Given the description of an element on the screen output the (x, y) to click on. 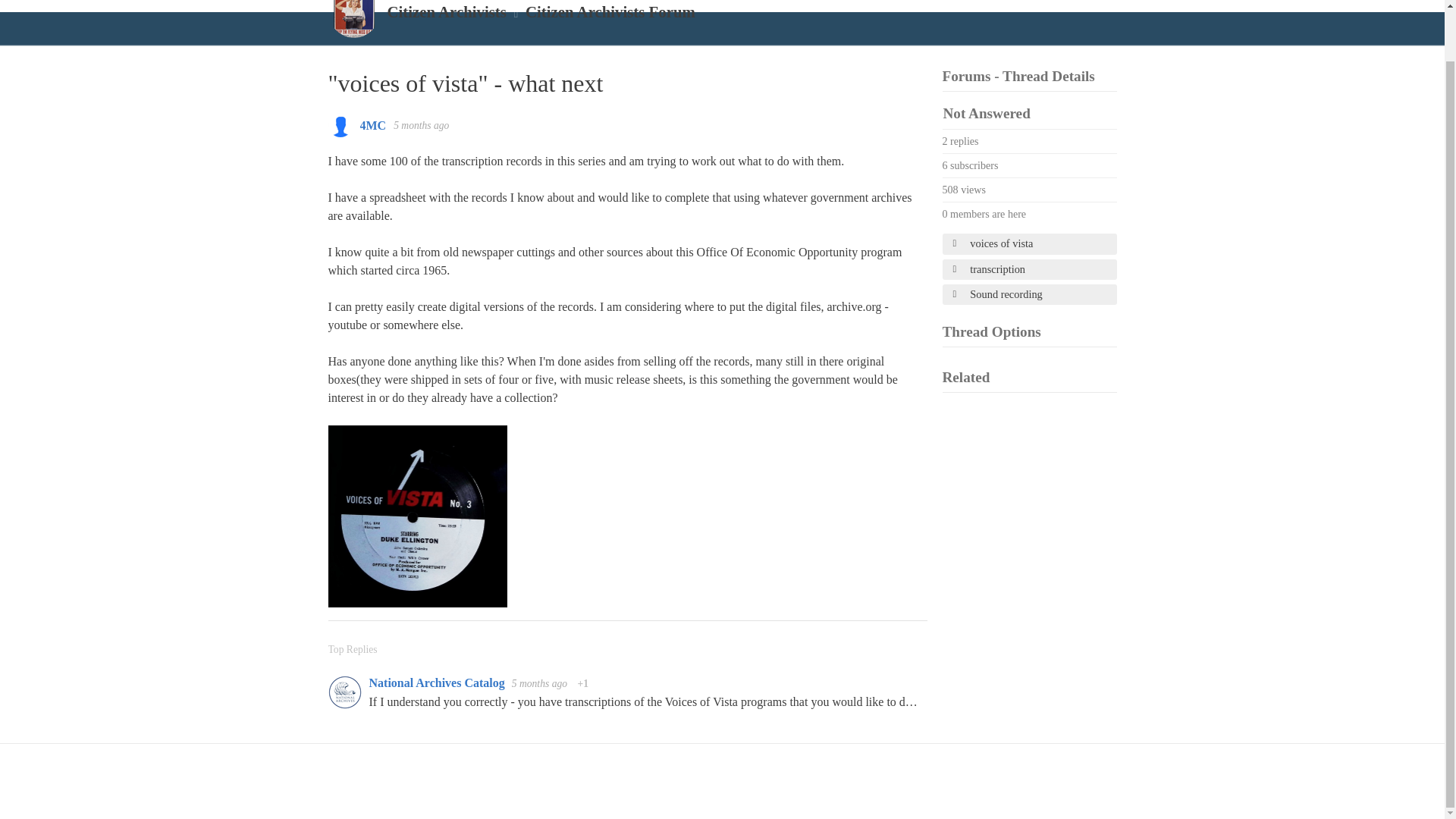
4MC (372, 124)
5 months ago (541, 683)
transcription (1029, 269)
Citizen Archivists Forum (610, 11)
Citizen Archivists (446, 11)
National Archives Catalog (437, 682)
Sound recording (1029, 294)
voices of vista (1029, 243)
5 months ago (420, 125)
